Given the description of an element on the screen output the (x, y) to click on. 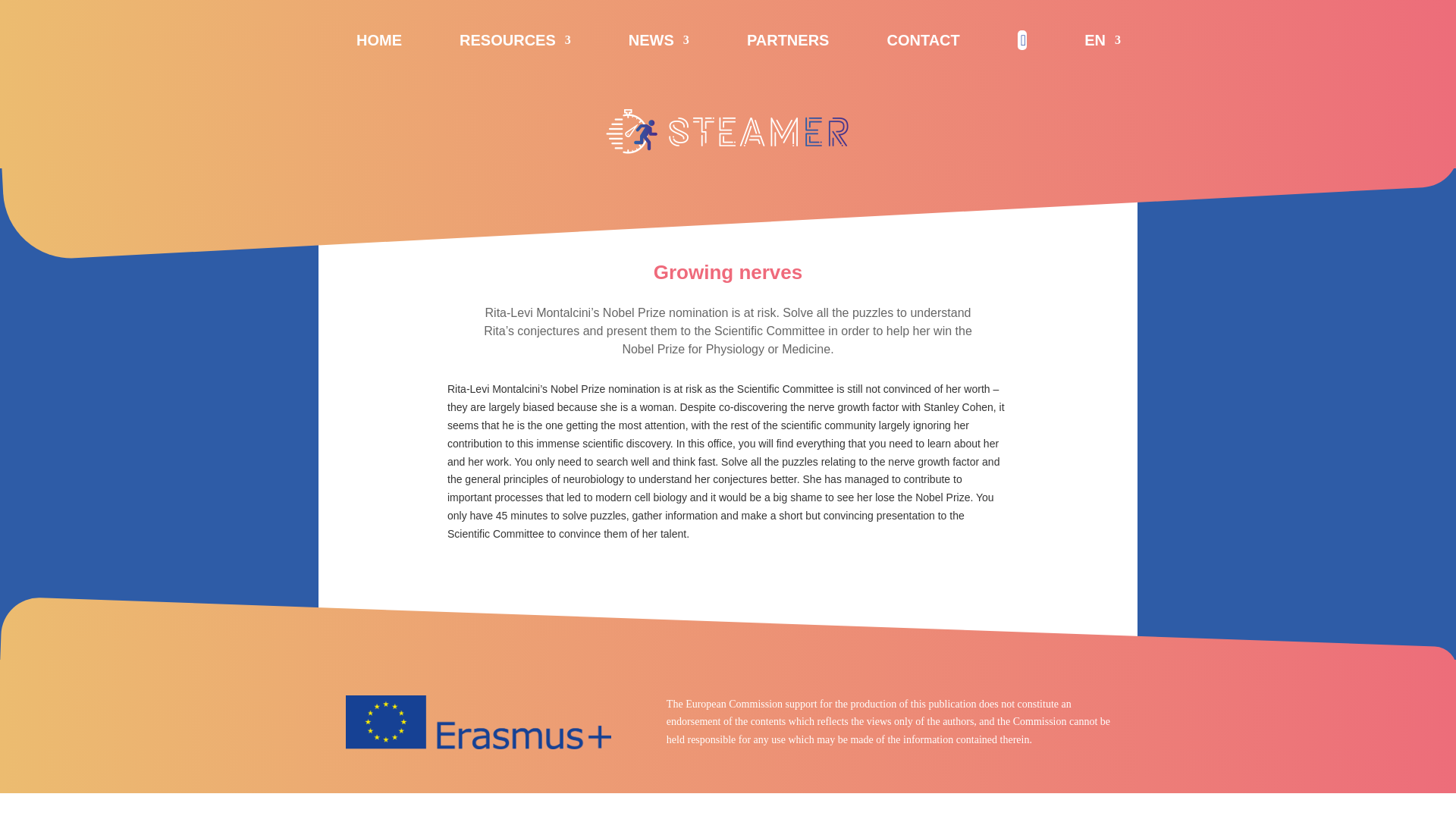
EN (1102, 43)
EN (1102, 43)
CONTACT (922, 43)
NEWS (658, 43)
RESOURCES (515, 43)
HOME (378, 43)
PARTNERS (787, 43)
